Given the description of an element on the screen output the (x, y) to click on. 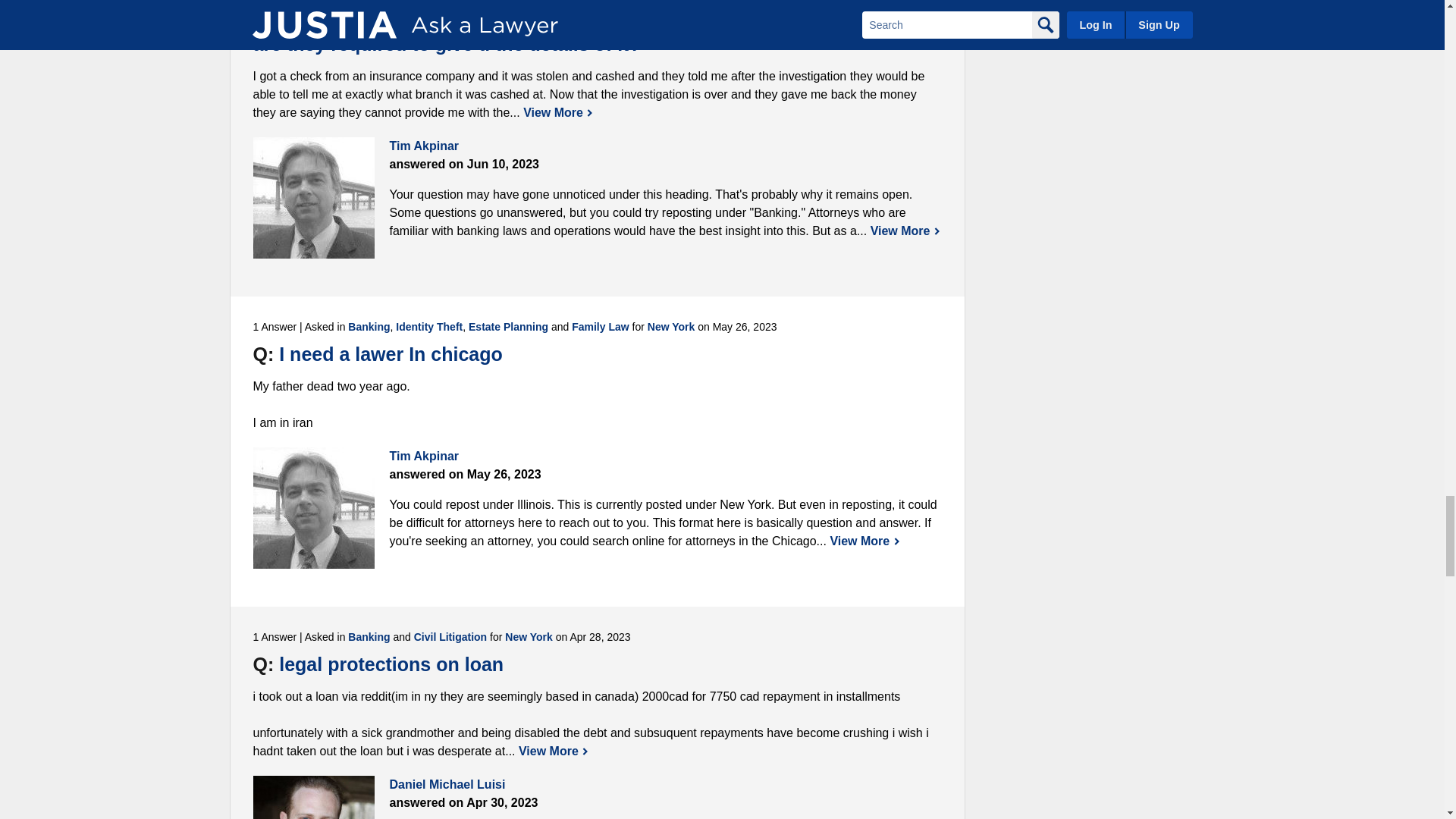
Daniel Michael Luisi (313, 797)
Tim Akpinar (313, 507)
Tim Akpinar (313, 197)
